Given the description of an element on the screen output the (x, y) to click on. 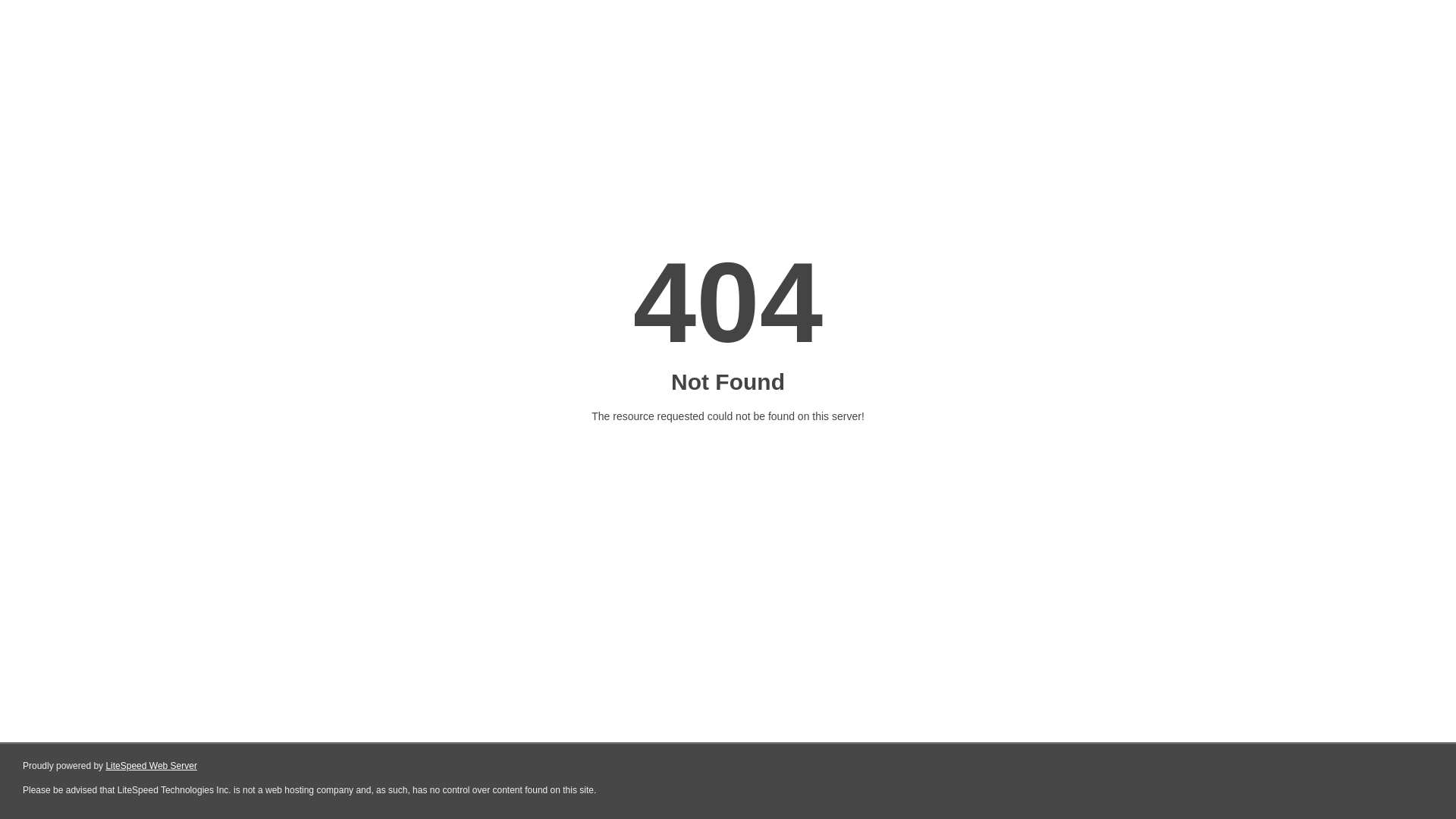
LiteSpeed Web Server Element type: text (151, 765)
